Given the description of an element on the screen output the (x, y) to click on. 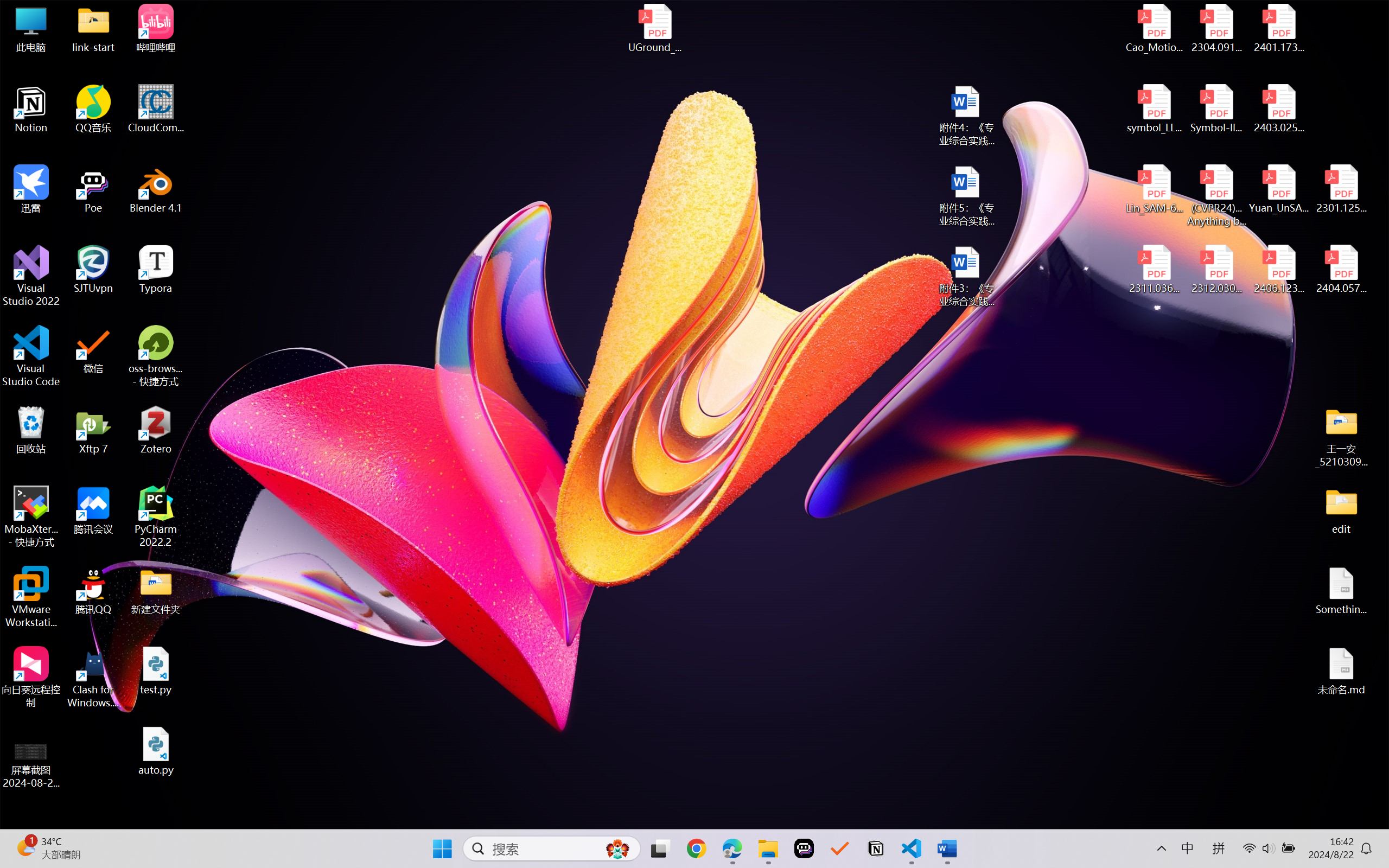
Visual Studio 2022 (31, 276)
symbol_LLM.pdf (1154, 109)
